Given the description of an element on the screen output the (x, y) to click on. 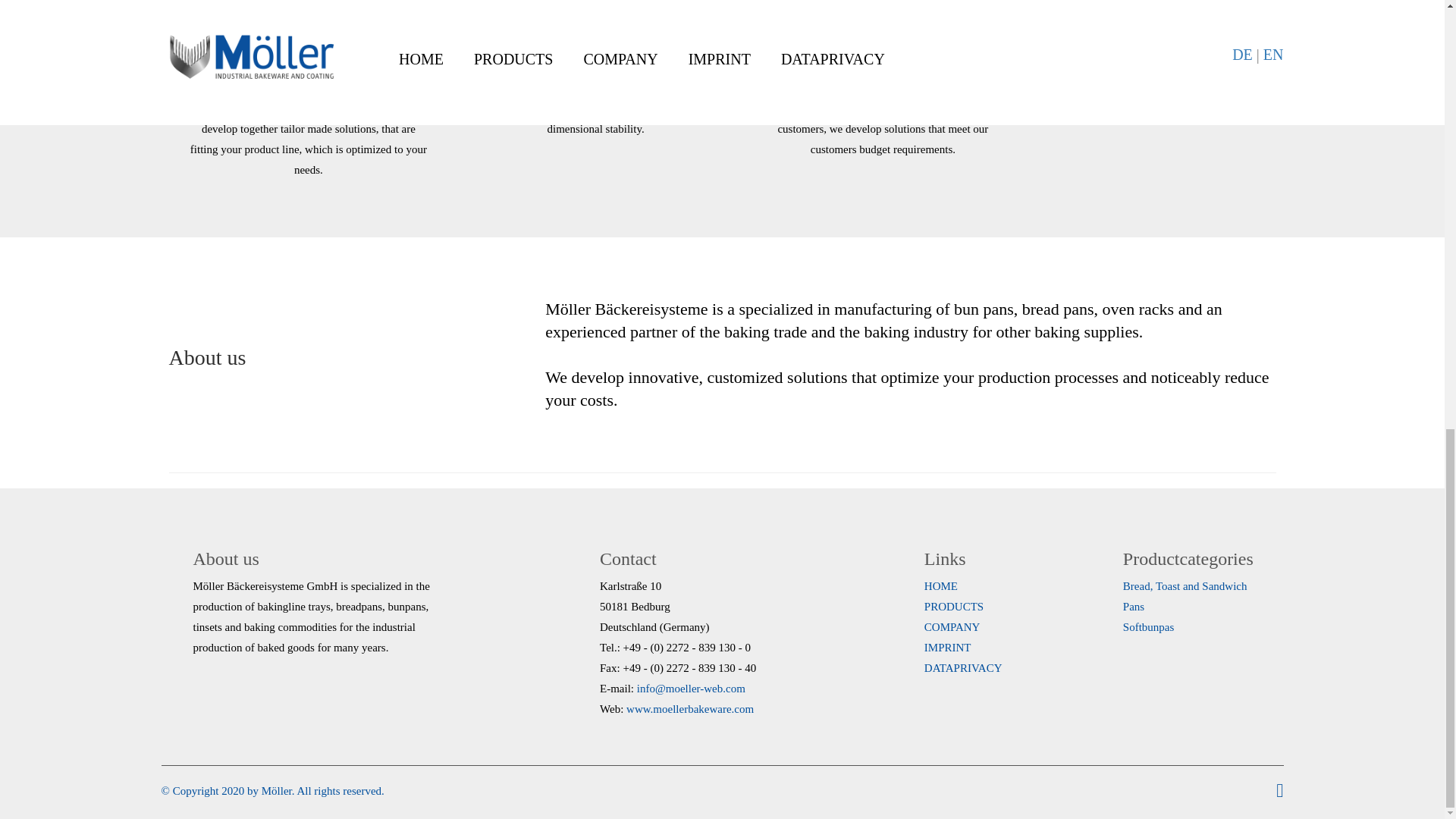
PRODUCTS (954, 606)
IMPRINT (947, 647)
Previous (140, 3)
COMPANY (951, 626)
HOME (941, 585)
Bread, Toast and Sandwich Pans (1184, 595)
Bread, Toast and Sandwich Pans (1184, 595)
Softbun Pans (1148, 626)
Softbunpas (1148, 626)
www.moellerbakeware.com (690, 708)
DATAPRIVACY (963, 667)
